Given the description of an element on the screen output the (x, y) to click on. 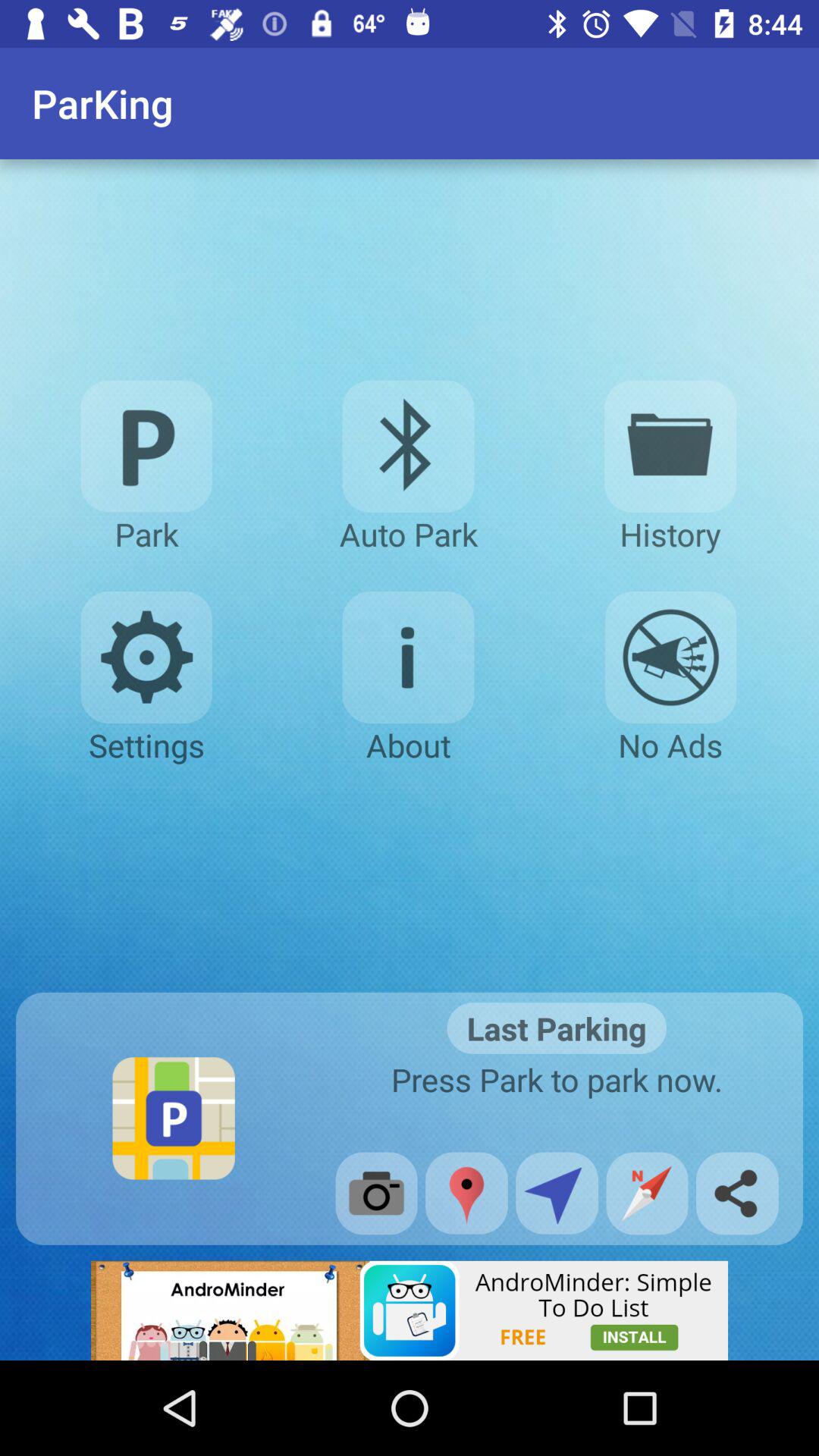
select the camera option (376, 1193)
